Given the description of an element on the screen output the (x, y) to click on. 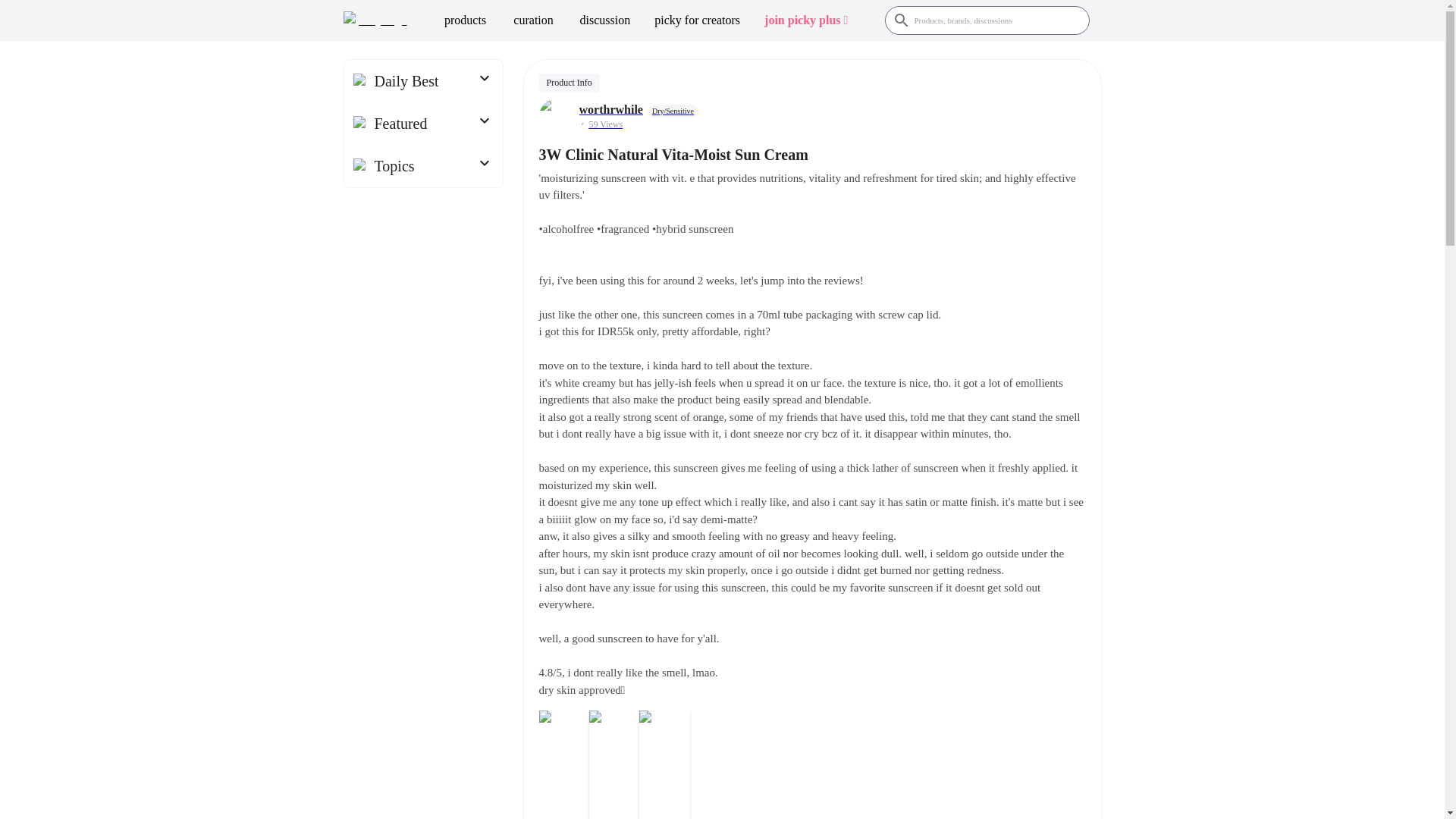
picky for creators (697, 20)
discussion (605, 20)
products (464, 20)
curation (533, 20)
